Given the description of an element on the screen output the (x, y) to click on. 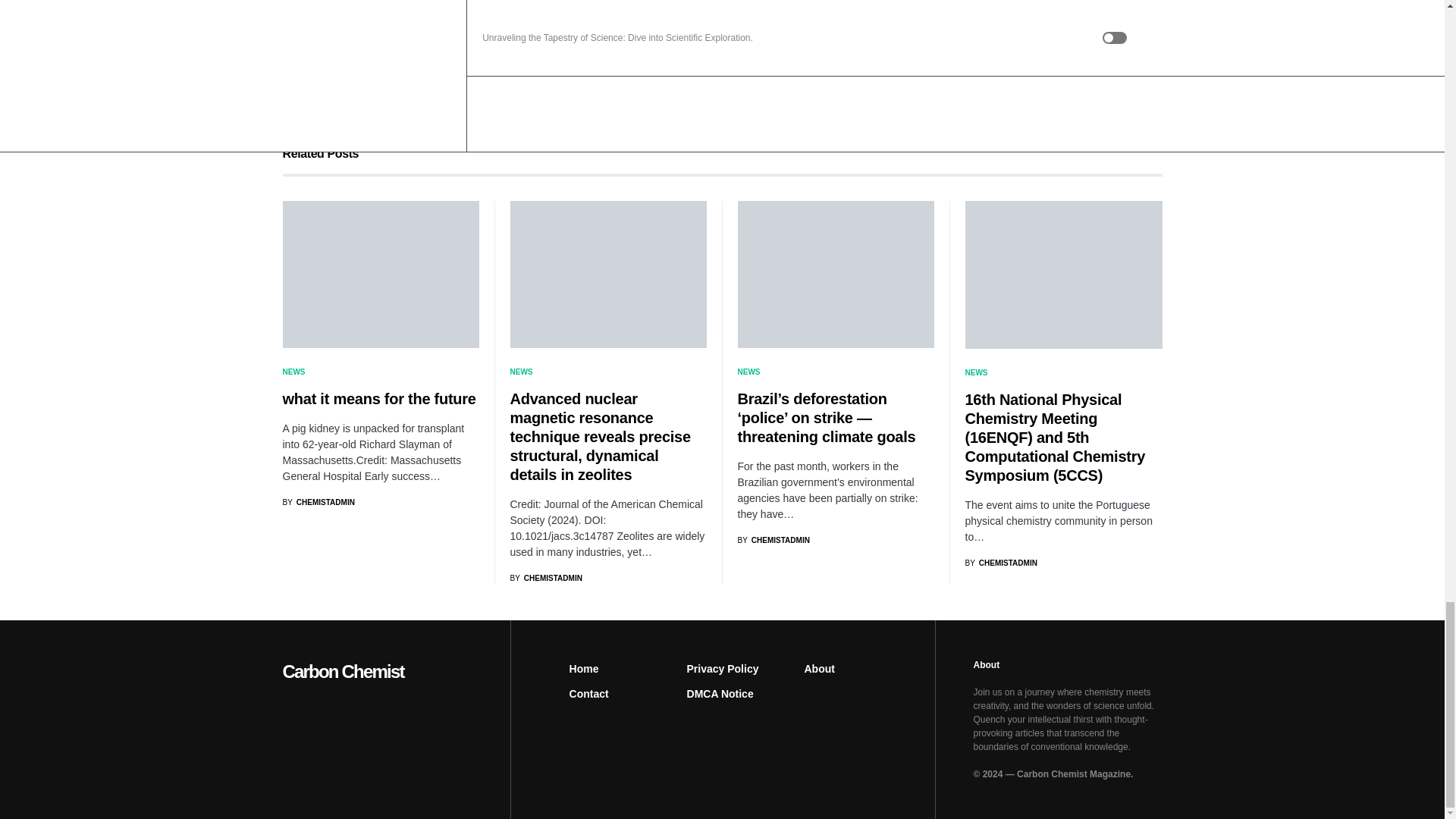
View all posts by chemistadmin (317, 501)
View all posts by chemistadmin (544, 577)
View all posts by chemistadmin (999, 562)
View all posts by chemistadmin (772, 540)
